Given the description of an element on the screen output the (x, y) to click on. 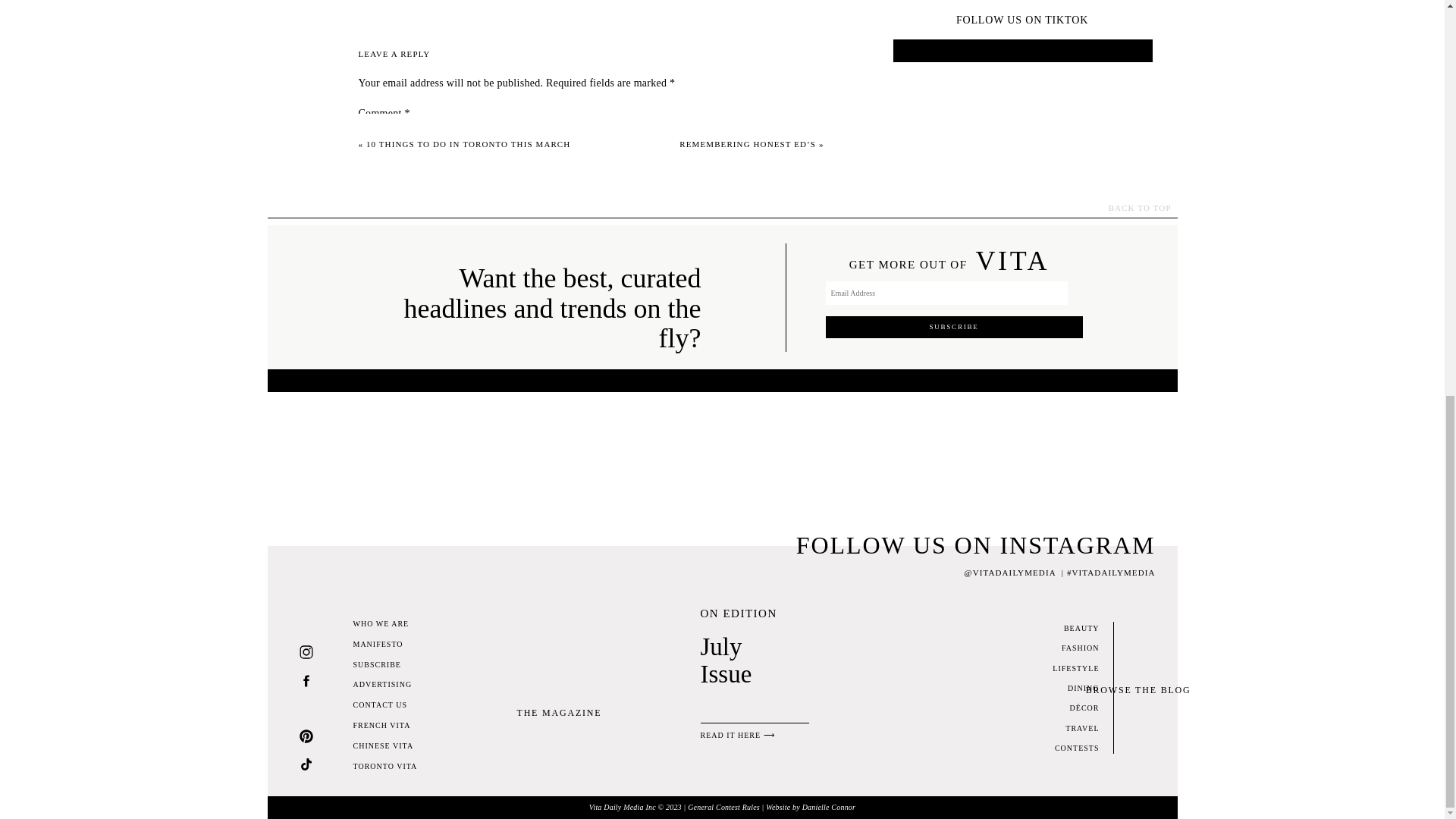
yes (366, 447)
Post Comment (398, 511)
Cold Garden (604, 183)
A Thousand Splendid Suns (591, 60)
Little Modern Market (417, 3)
High Line Brewing (697, 183)
Simons (495, 234)
Subscribe (953, 327)
